Given the description of an element on the screen output the (x, y) to click on. 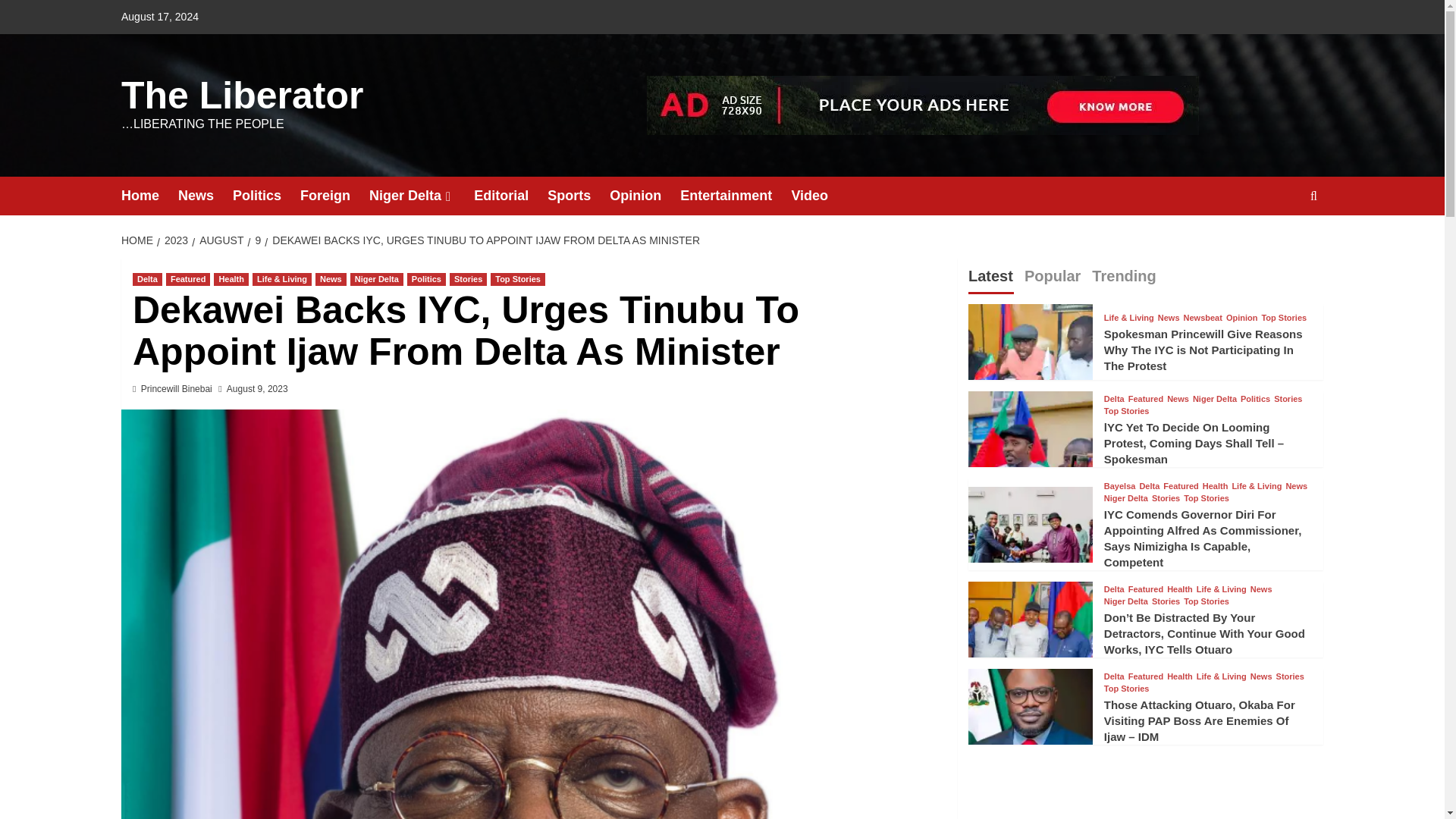
Politics (426, 278)
2023 (174, 240)
Foreign (334, 195)
Home (148, 195)
Delta (146, 278)
News (330, 278)
Opinion (644, 195)
News (204, 195)
Entertainment (734, 195)
